Given the description of an element on the screen output the (x, y) to click on. 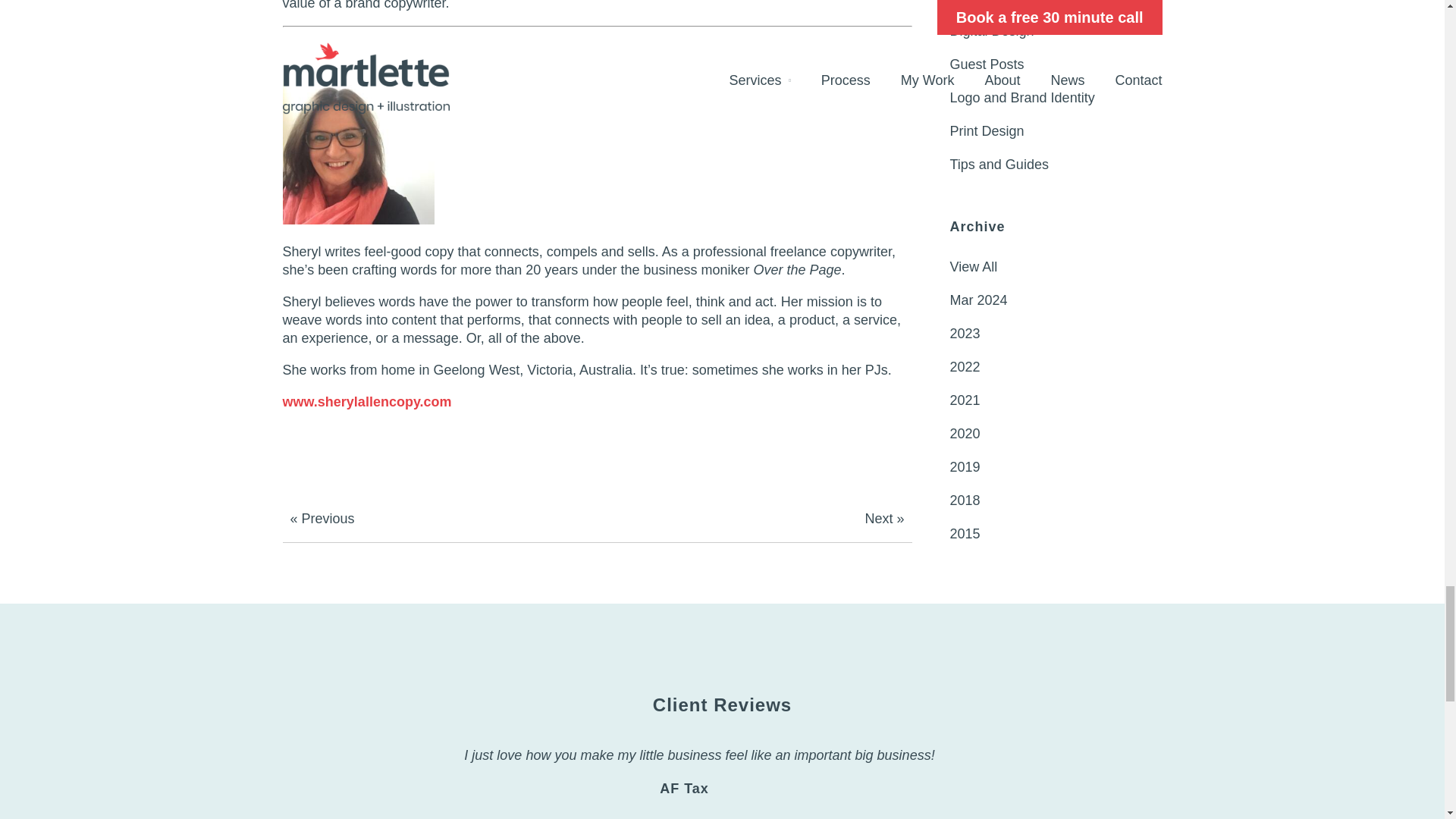
www.sherylallencopy.com (366, 401)
Sheryl Allen - Copywriter (357, 148)
